Given the description of an element on the screen output the (x, y) to click on. 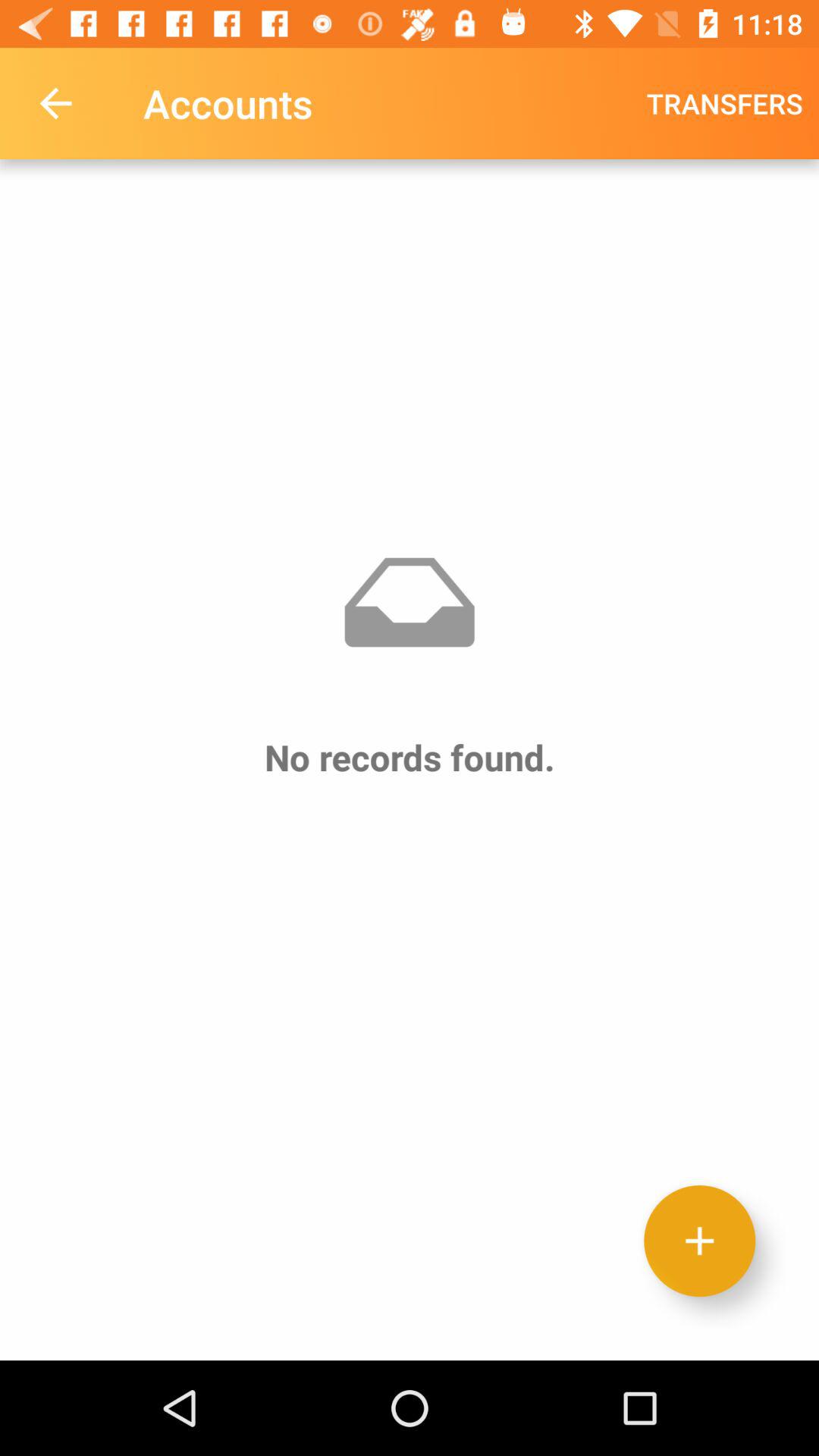
add account (699, 1240)
